Given the description of an element on the screen output the (x, y) to click on. 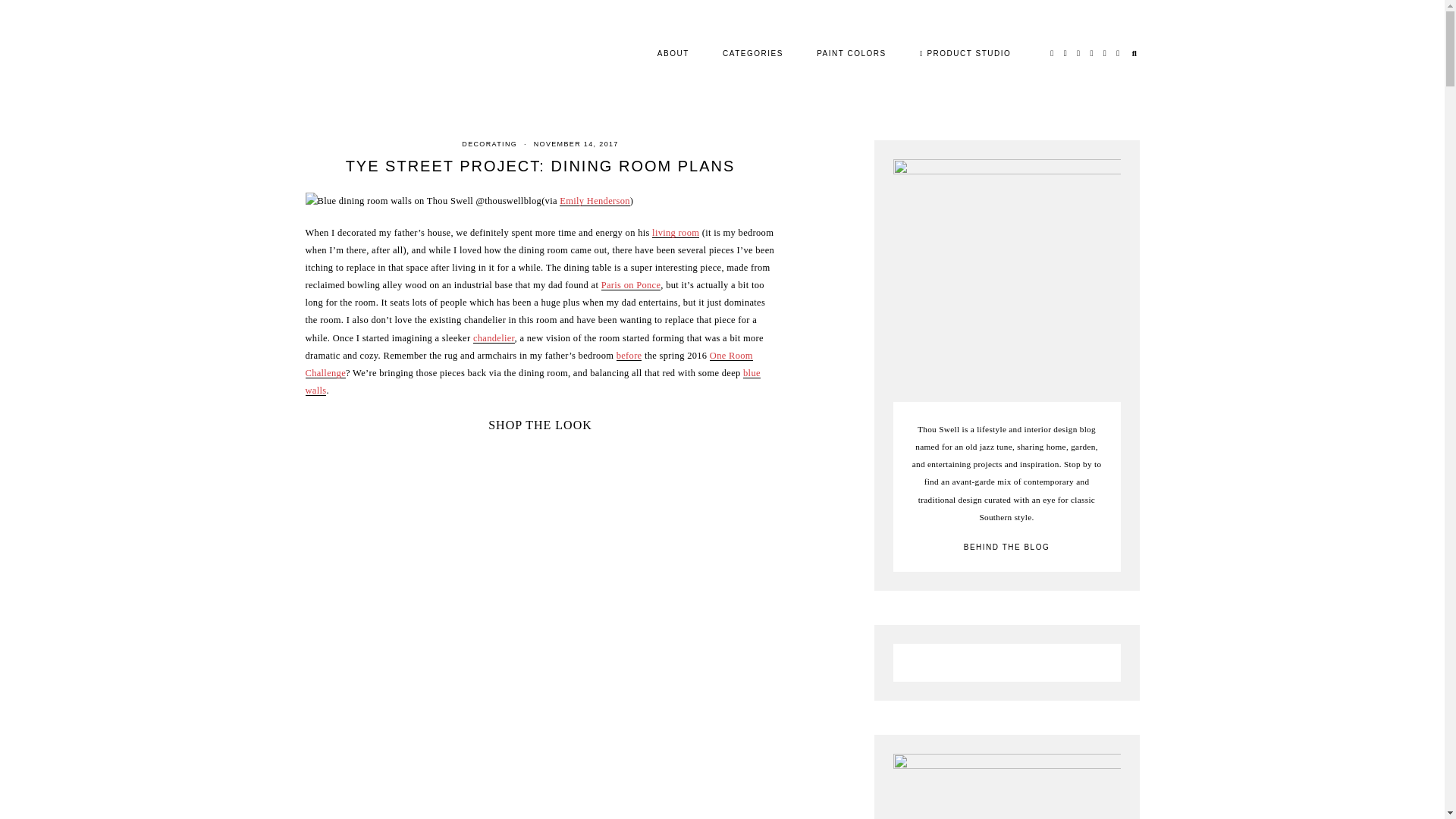
blue walls (532, 381)
PAINT COLORS (851, 53)
living room (675, 232)
ONE ROOM CHALLENGE: BEDROOM REVEAL (528, 364)
chandelier (494, 337)
CATEGORIES (752, 53)
ONE ROOM CHALLENGE: MASTER BEDROOM (628, 355)
View all posts in Decorating (488, 144)
TYE STREET PROJECT REVEAL ON DESIGN SPONGE (675, 232)
ABOUT (673, 53)
